Given the description of an element on the screen output the (x, y) to click on. 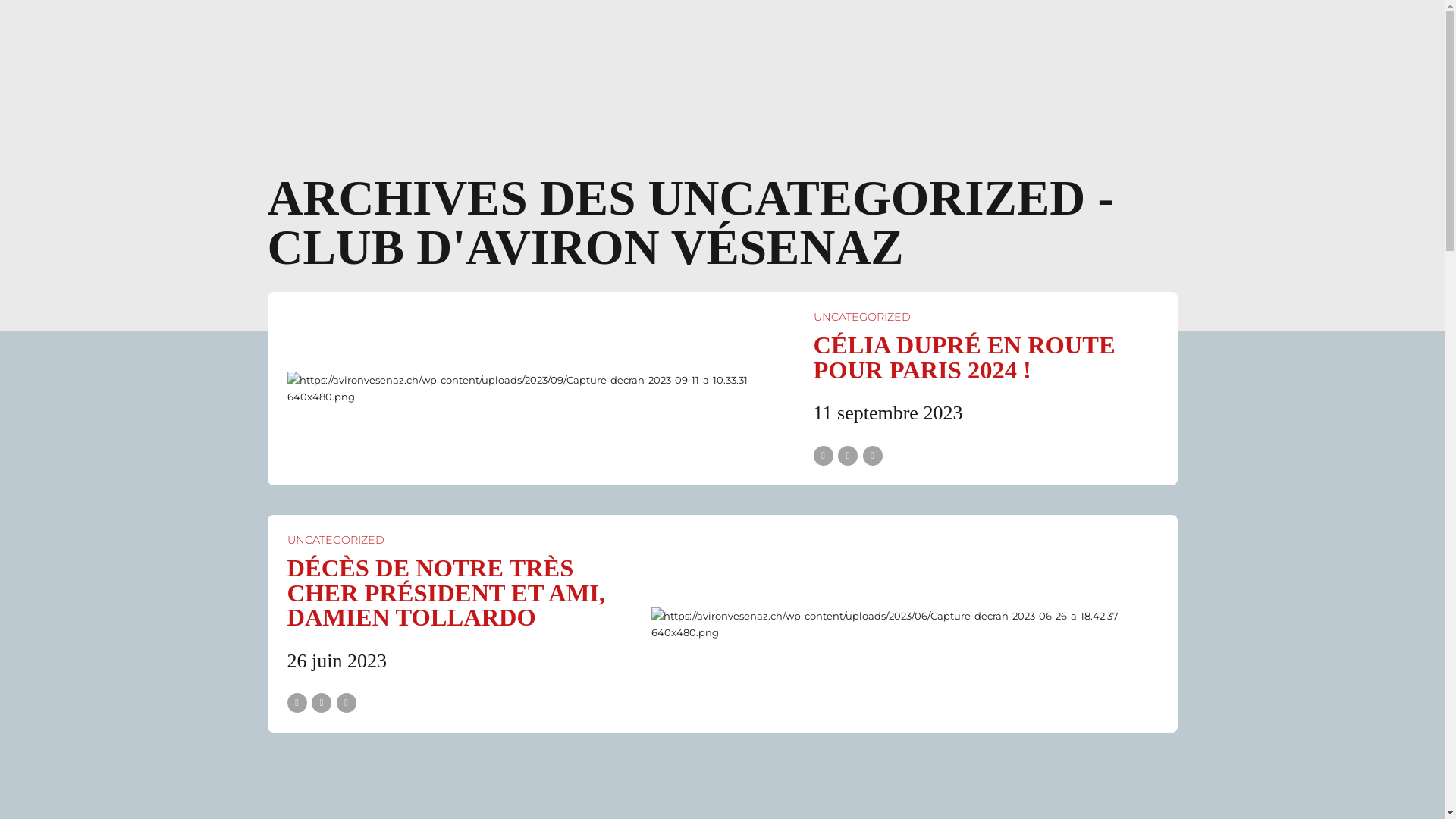
Share on Facebook Element type: hover (296, 702)
Share on Linkedin Element type: hover (872, 455)
Share on Twitter Element type: hover (321, 702)
Share on Twitter Element type: hover (847, 455)
UNCATEGORIZED Element type: text (861, 316)
Share on Linkedin Element type: hover (346, 702)
Share on Facebook Element type: hover (822, 455)
UNCATEGORIZED Element type: text (334, 539)
